Given the description of an element on the screen output the (x, y) to click on. 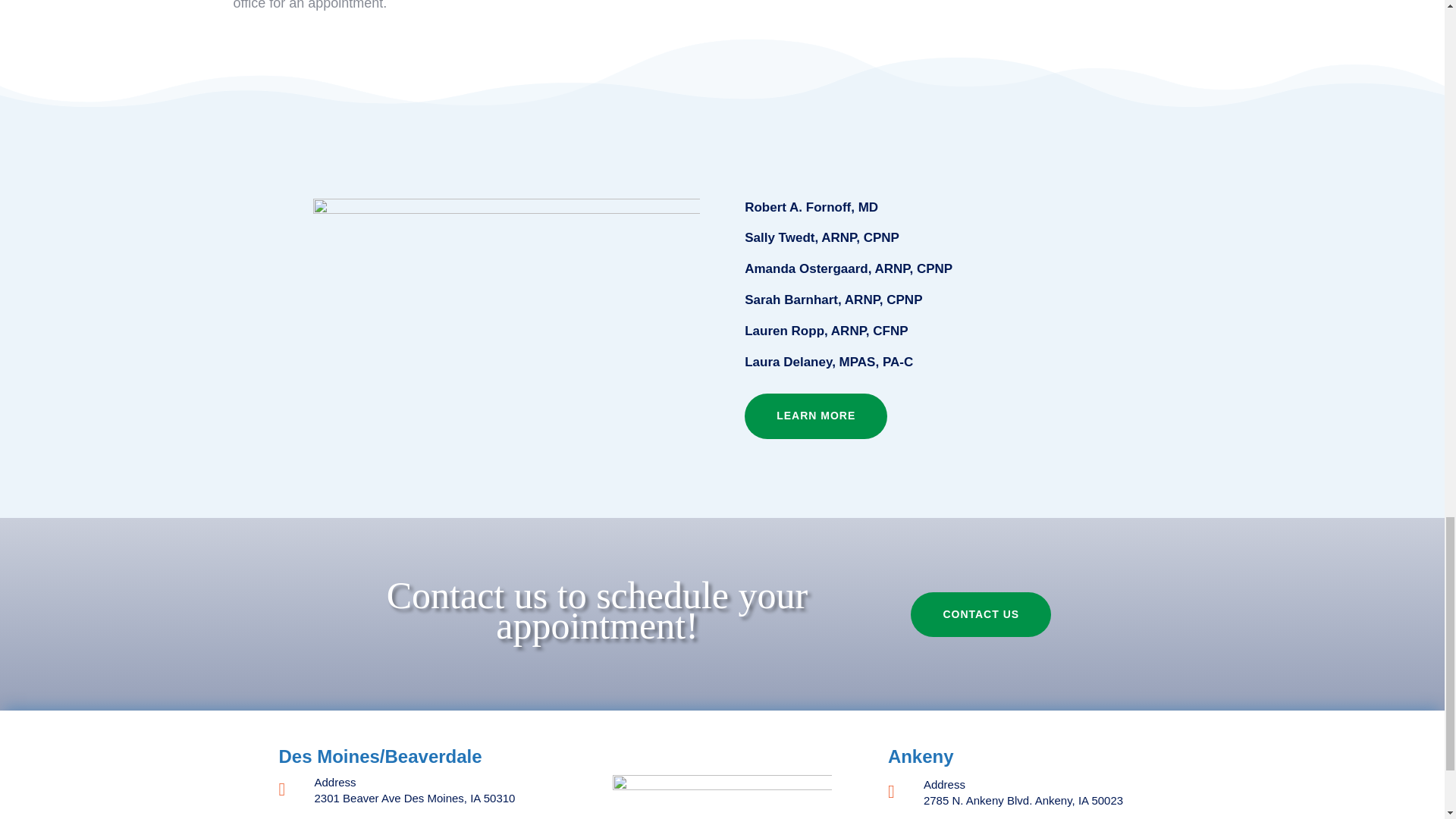
LEARN MORE (815, 415)
CONTACT US (981, 615)
Untitled-1 (722, 792)
